Given the description of an element on the screen output the (x, y) to click on. 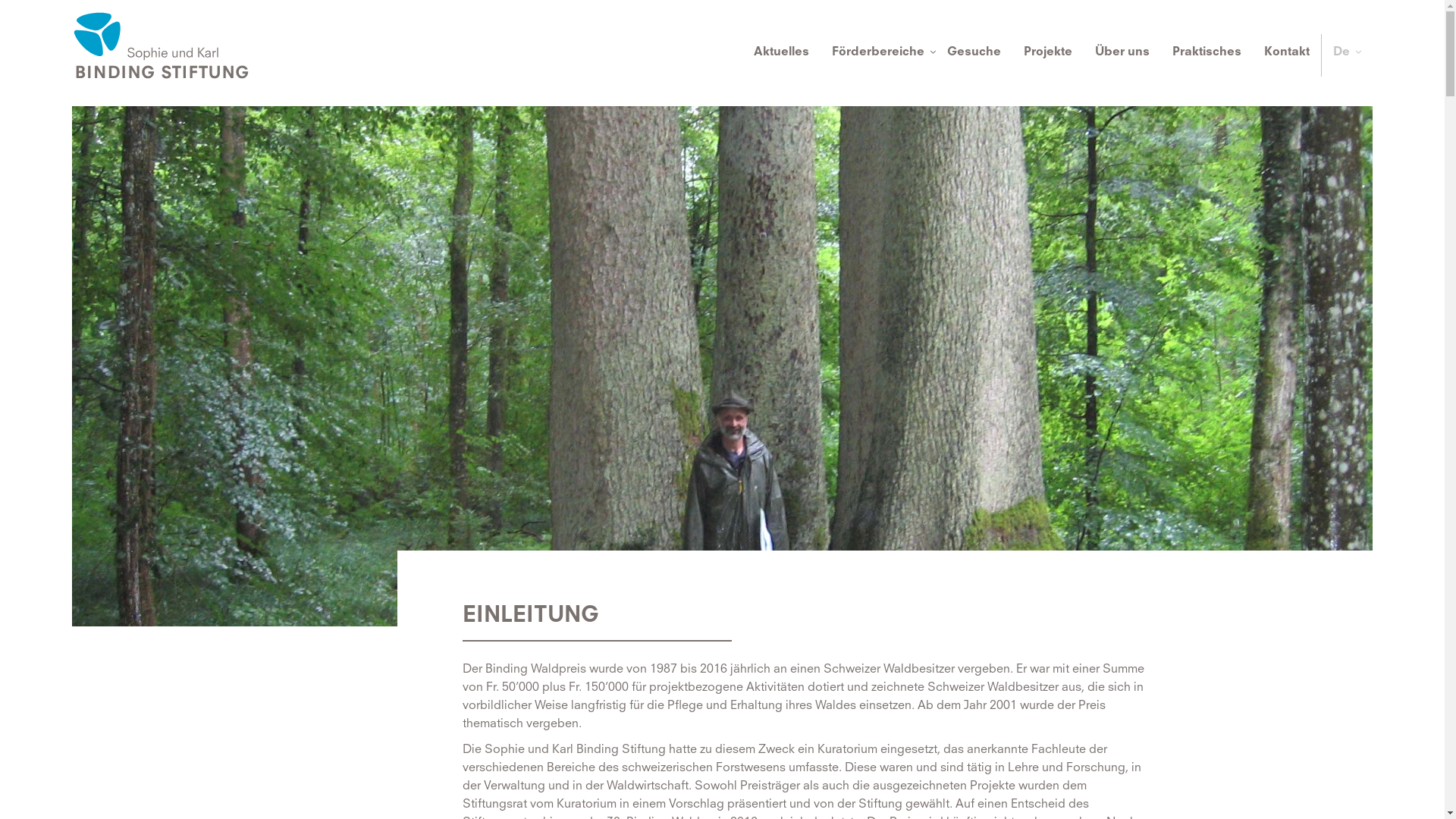
Praktisches Element type: text (1206, 55)
De Element type: text (1341, 55)
Gesuche Element type: text (973, 55)
Aktuelles Element type: text (781, 55)
Projekte Element type: text (1047, 55)
Kontakt Element type: text (1286, 55)
